Given the description of an element on the screen output the (x, y) to click on. 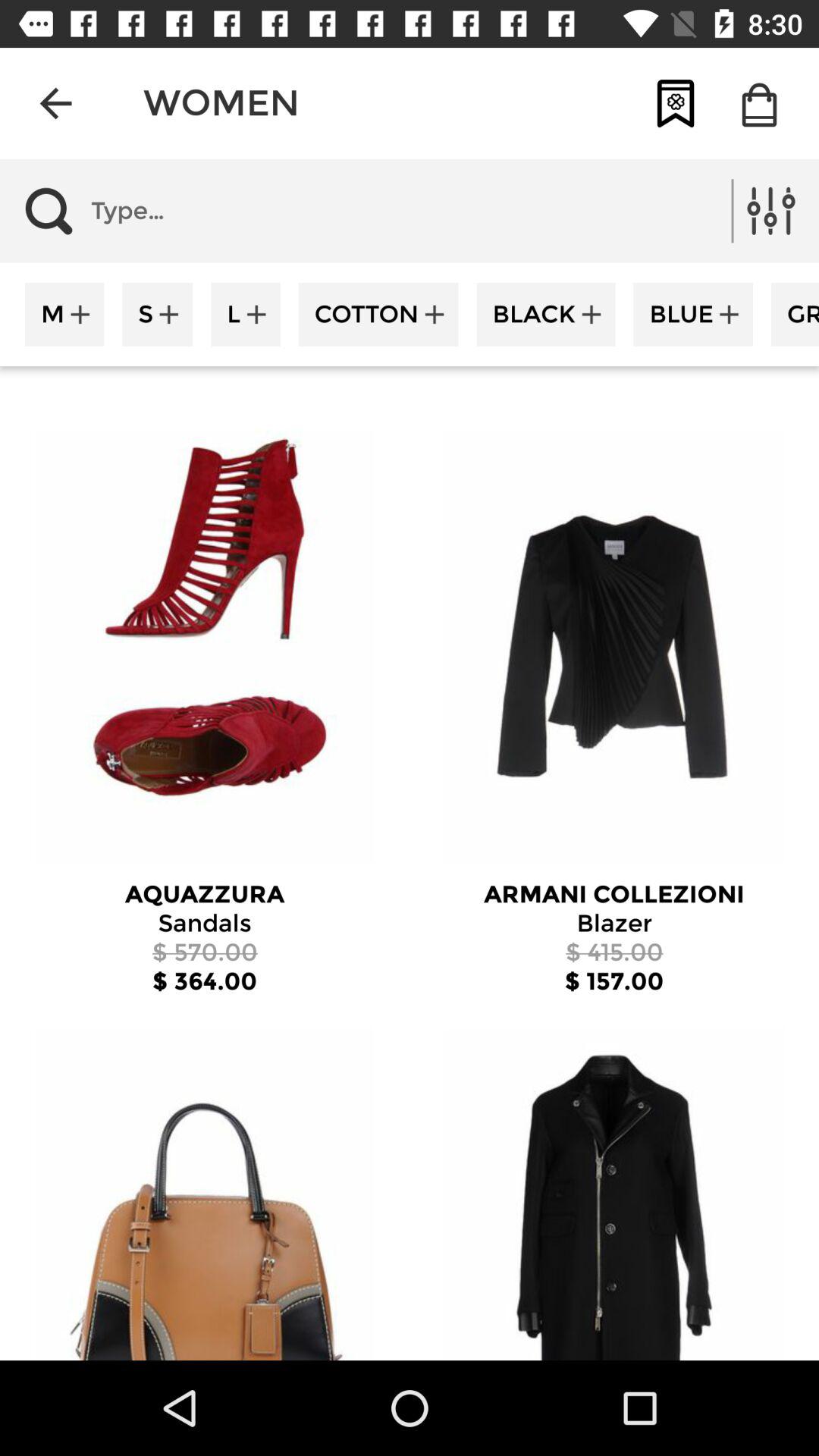
select item to the right of the s item (245, 314)
